Given the description of an element on the screen output the (x, y) to click on. 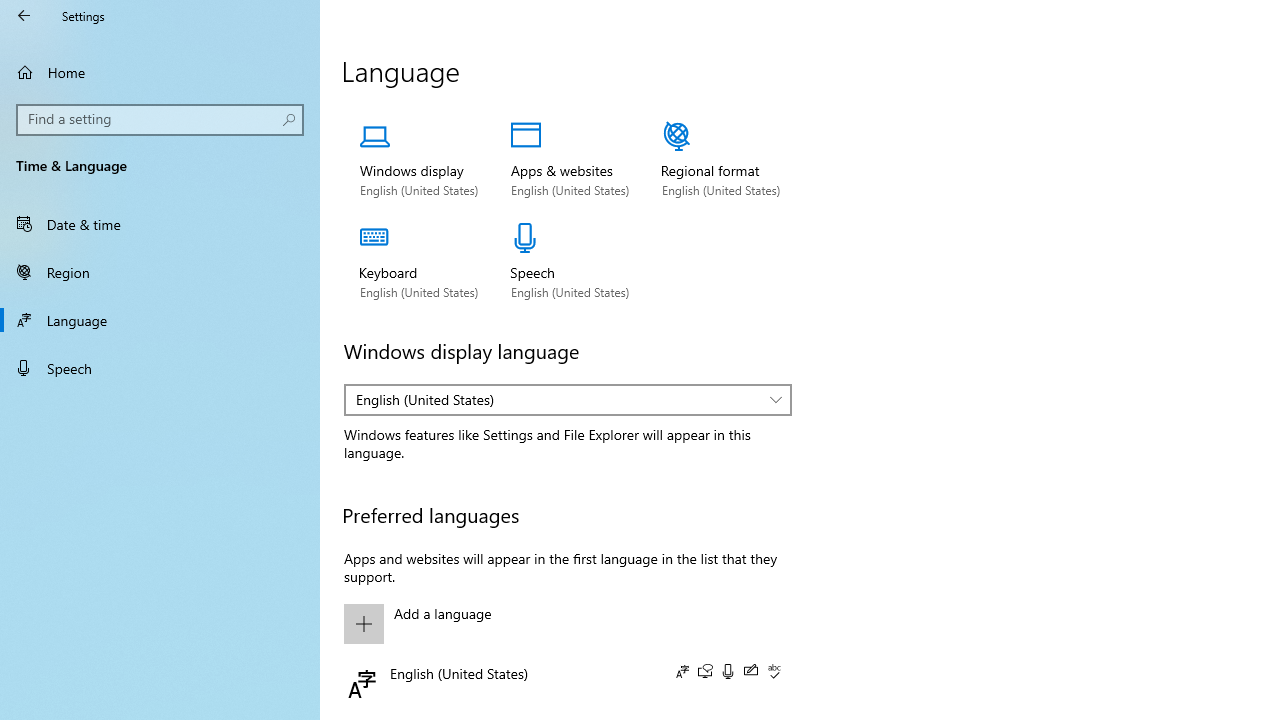
Add a language (563, 623)
